Given the description of an element on the screen output the (x, y) to click on. 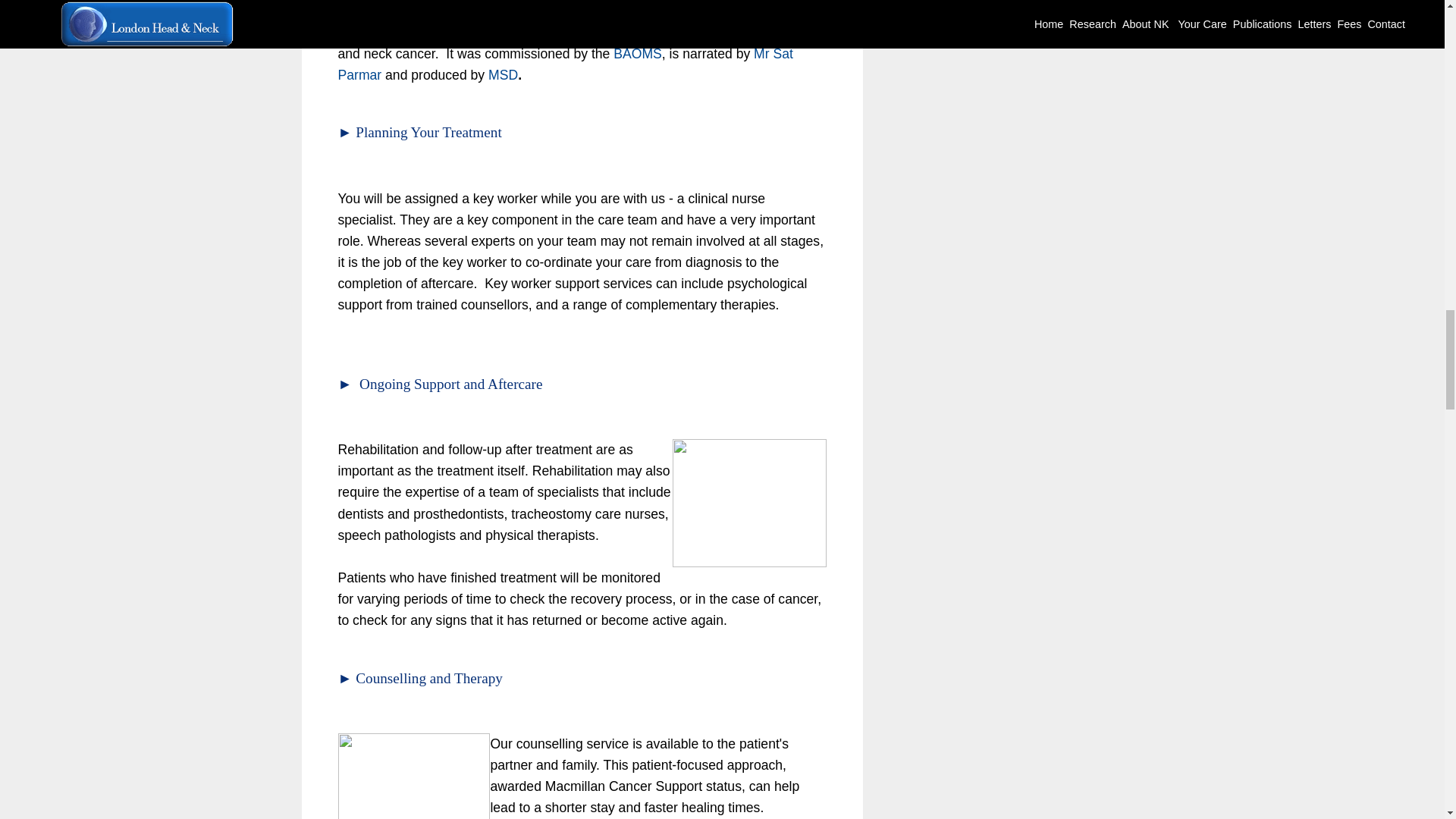
Mr Sat Parmar (565, 63)
MSD (502, 74)
BAOMS (637, 53)
